Given the description of an element on the screen output the (x, y) to click on. 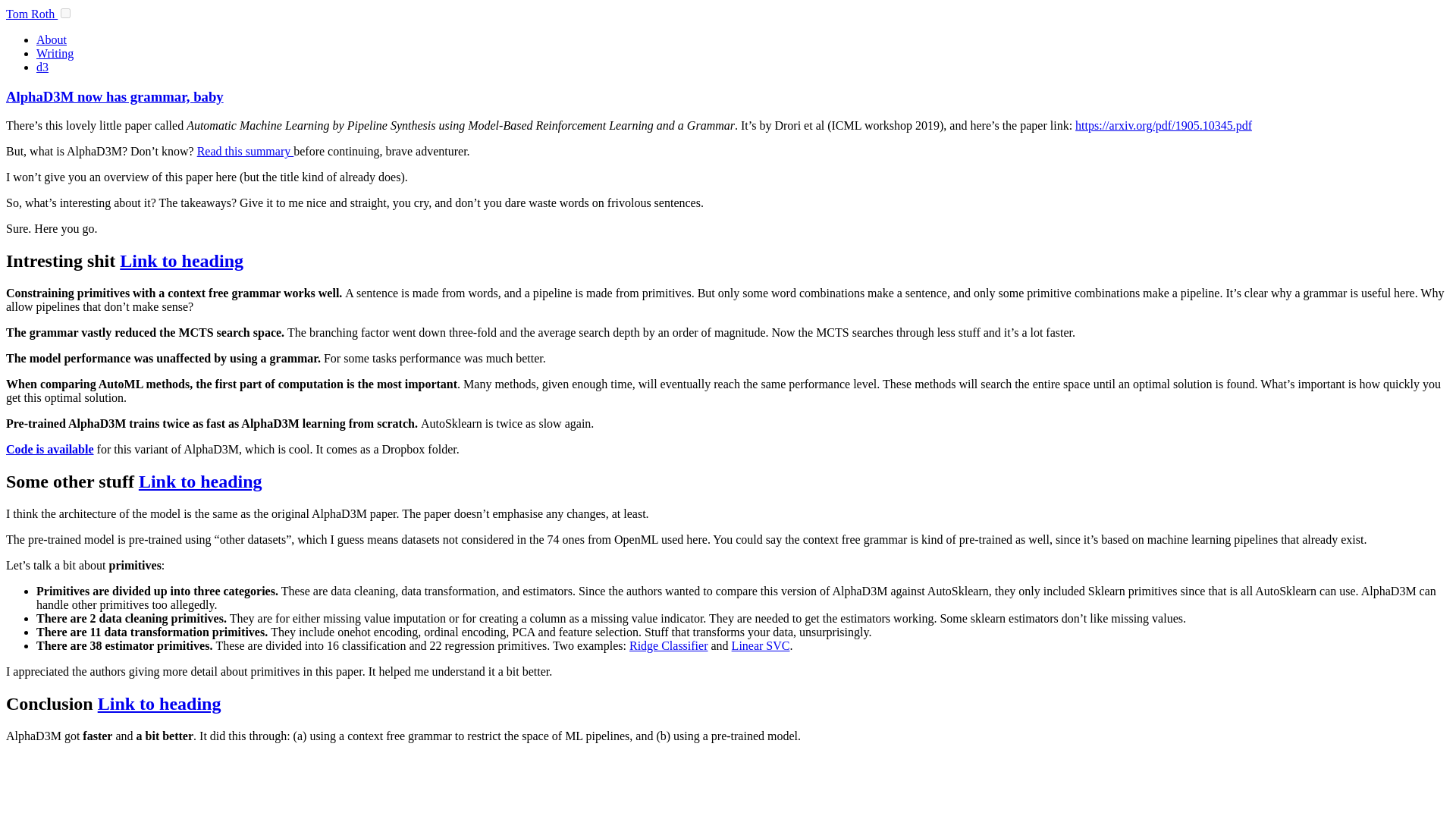
Code is available (49, 449)
Ridge Classifier (667, 645)
AlphaD3M now has grammar, baby (114, 96)
Link to heading (181, 260)
Writing (55, 52)
Link to heading (200, 481)
Link to heading (159, 703)
About (51, 39)
Tom Roth (31, 13)
on (65, 13)
Read this summary (245, 151)
d3 (42, 66)
Linear SVC (761, 645)
